Given the description of an element on the screen output the (x, y) to click on. 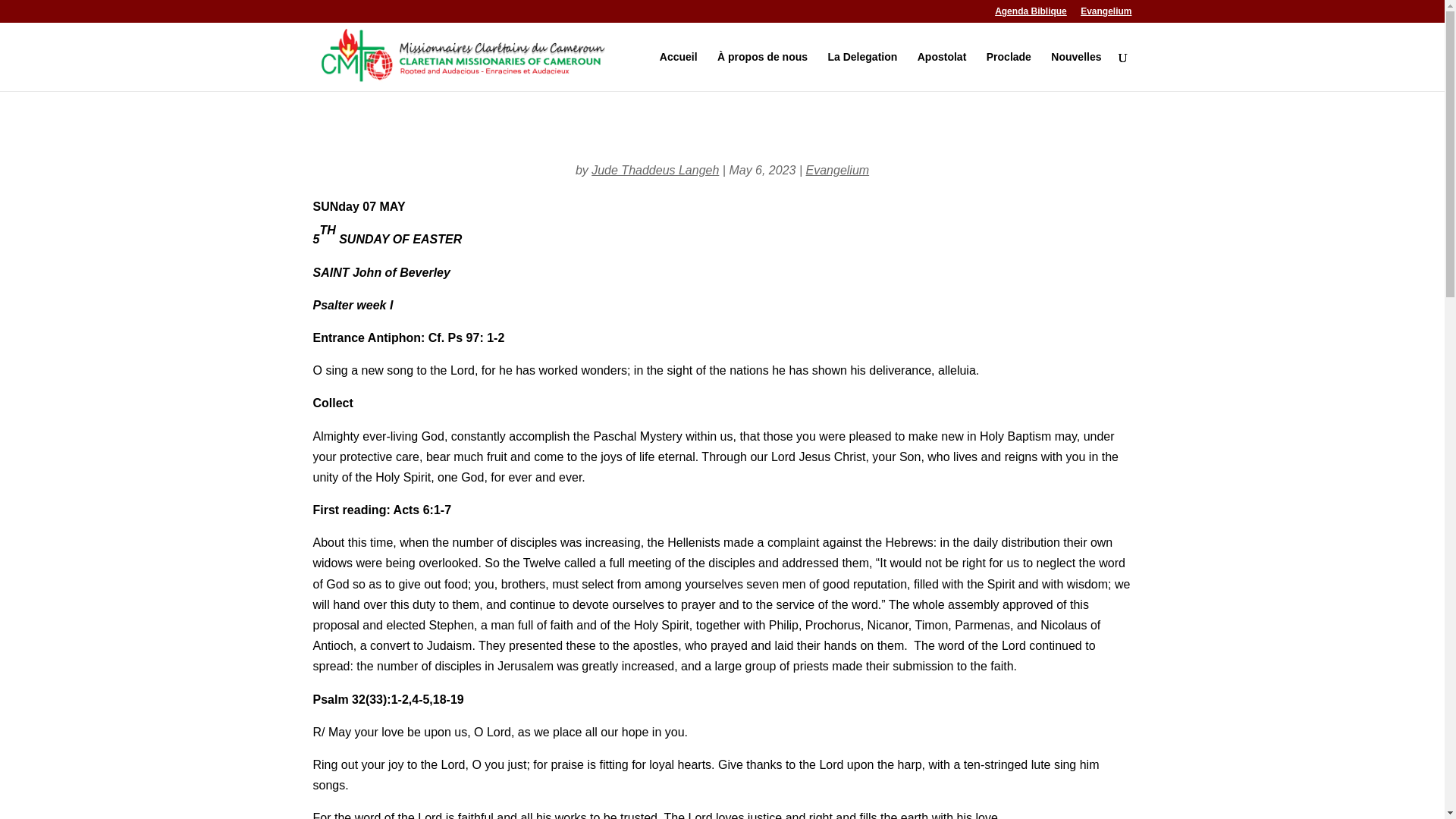
Agenda Biblique (1030, 14)
Posts by Jude Thaddeus Langeh (655, 169)
Proclade (1008, 70)
Apostolat (941, 70)
Evangelium (1105, 14)
Nouvelles (1075, 70)
Evangelium (837, 169)
Accueil (678, 70)
Jude Thaddeus Langeh (655, 169)
La Delegation (863, 70)
